Given the description of an element on the screen output the (x, y) to click on. 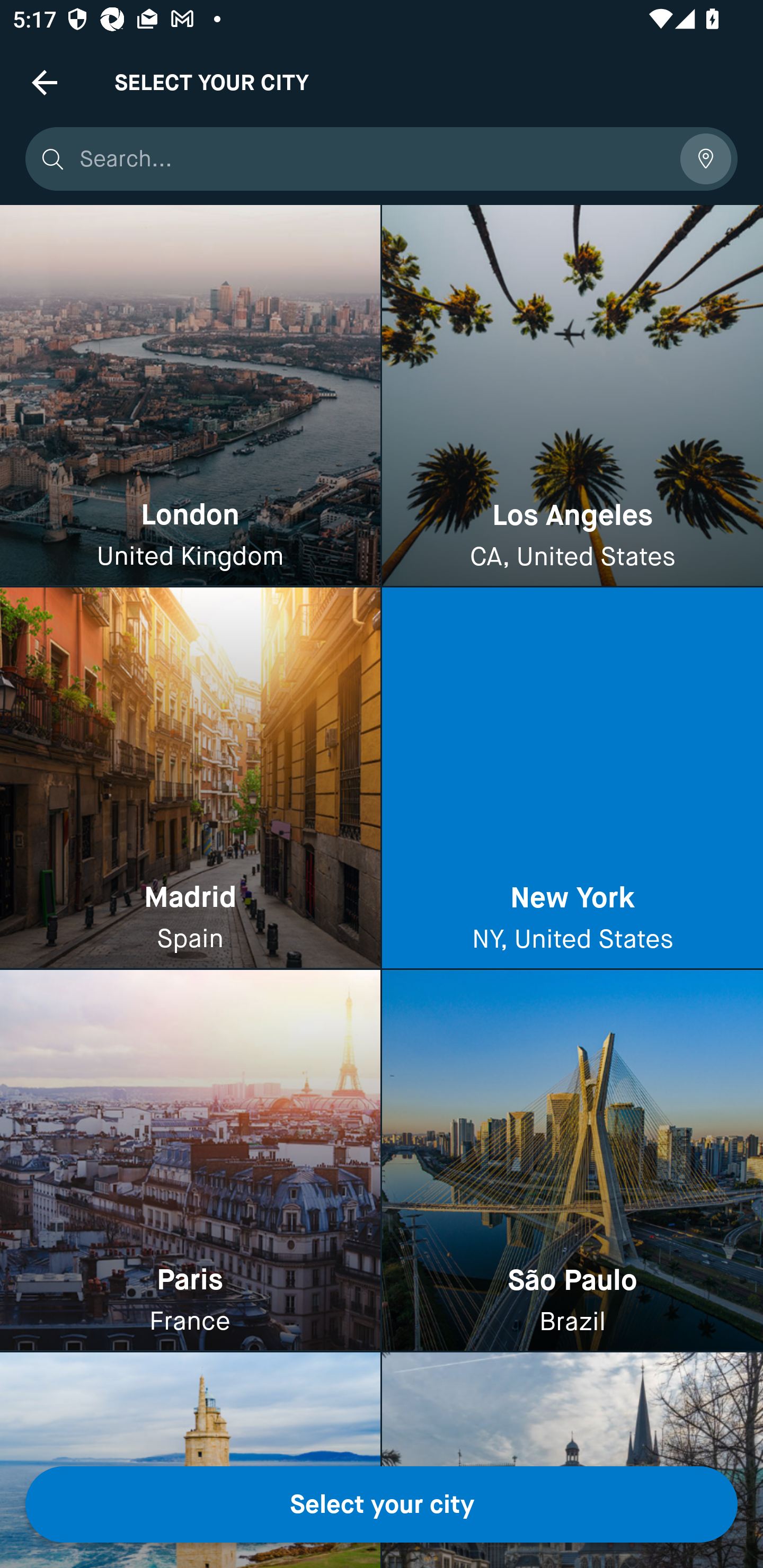
Navigate up (44, 82)
Search... (373, 159)
London United Kingdom (190, 395)
Los Angeles CA, United States (572, 395)
Madrid Spain (190, 778)
New York NY, United States (572, 778)
Paris France (190, 1160)
São Paulo Brazil (572, 1160)
Select your city (381, 1504)
